Given the description of an element on the screen output the (x, y) to click on. 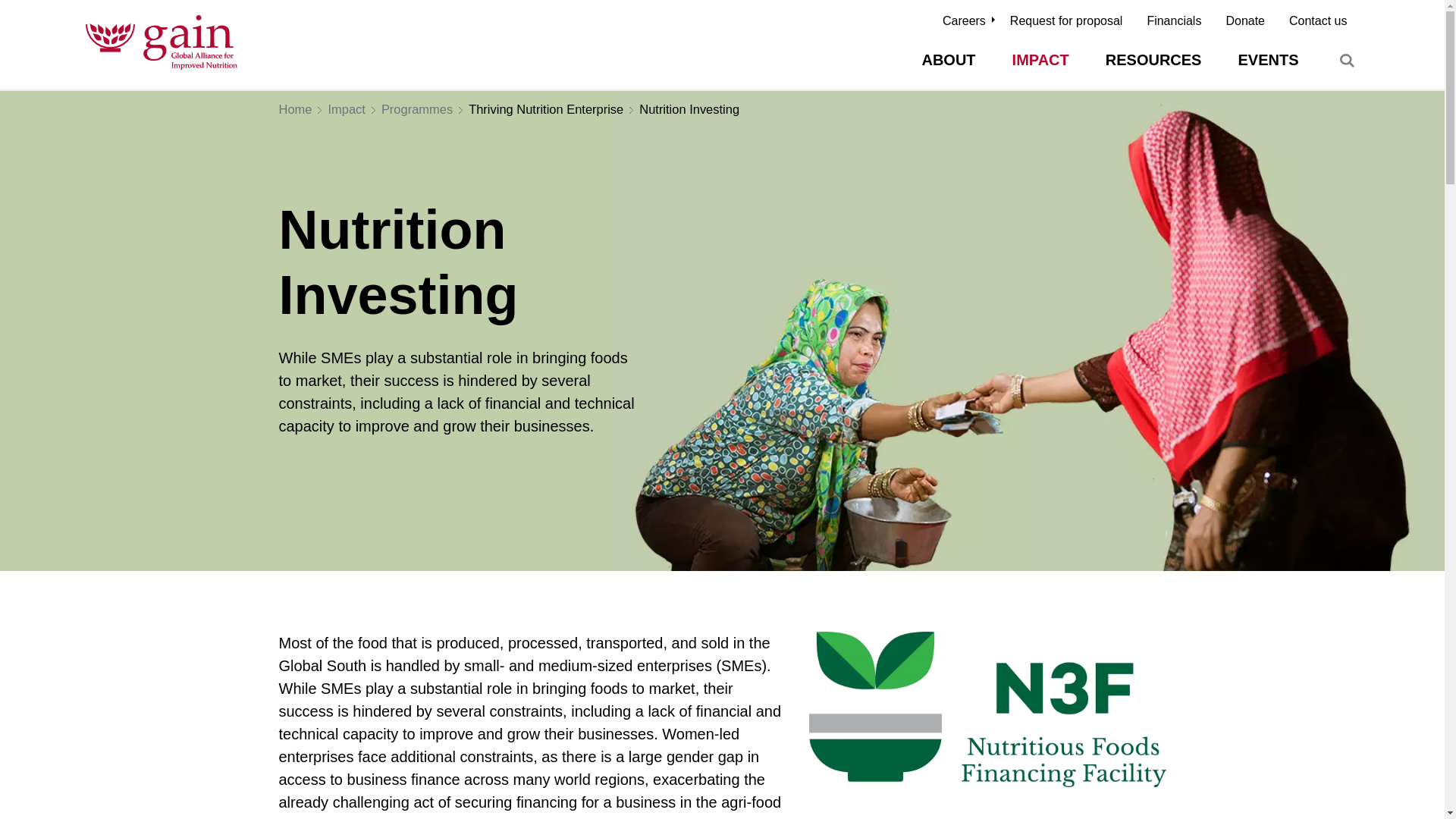
Enter the terms you wish to search for. (1271, 60)
IMPACT (1040, 59)
ABOUT (947, 59)
Search (1346, 60)
